Given the description of an element on the screen output the (x, y) to click on. 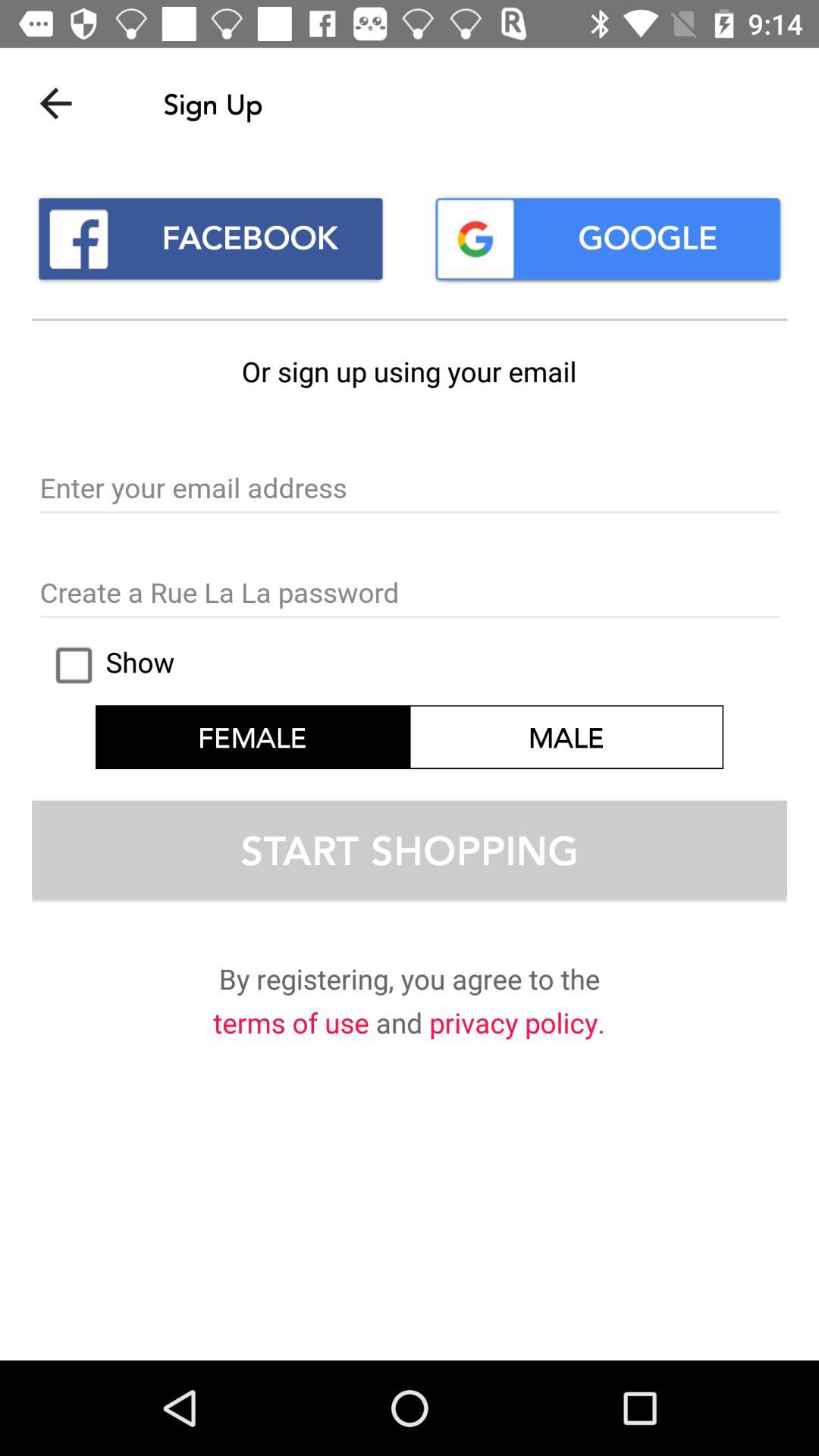
select terms of use item (291, 1025)
